Given the description of an element on the screen output the (x, y) to click on. 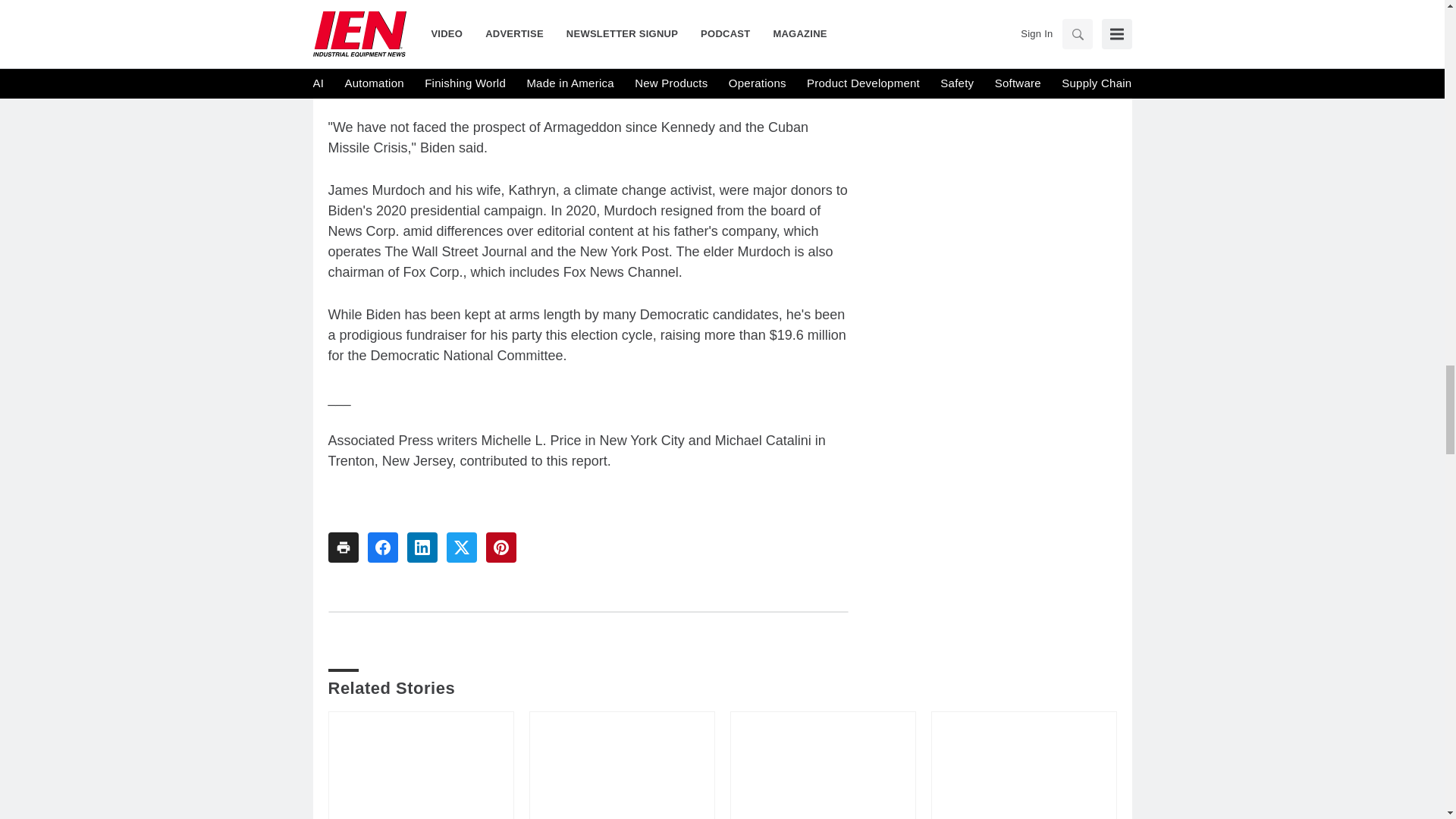
Share To print (342, 547)
Share To twitter (460, 547)
Share To pinterest (499, 547)
Share To facebook (381, 547)
Share To linkedin (421, 547)
